Given the description of an element on the screen output the (x, y) to click on. 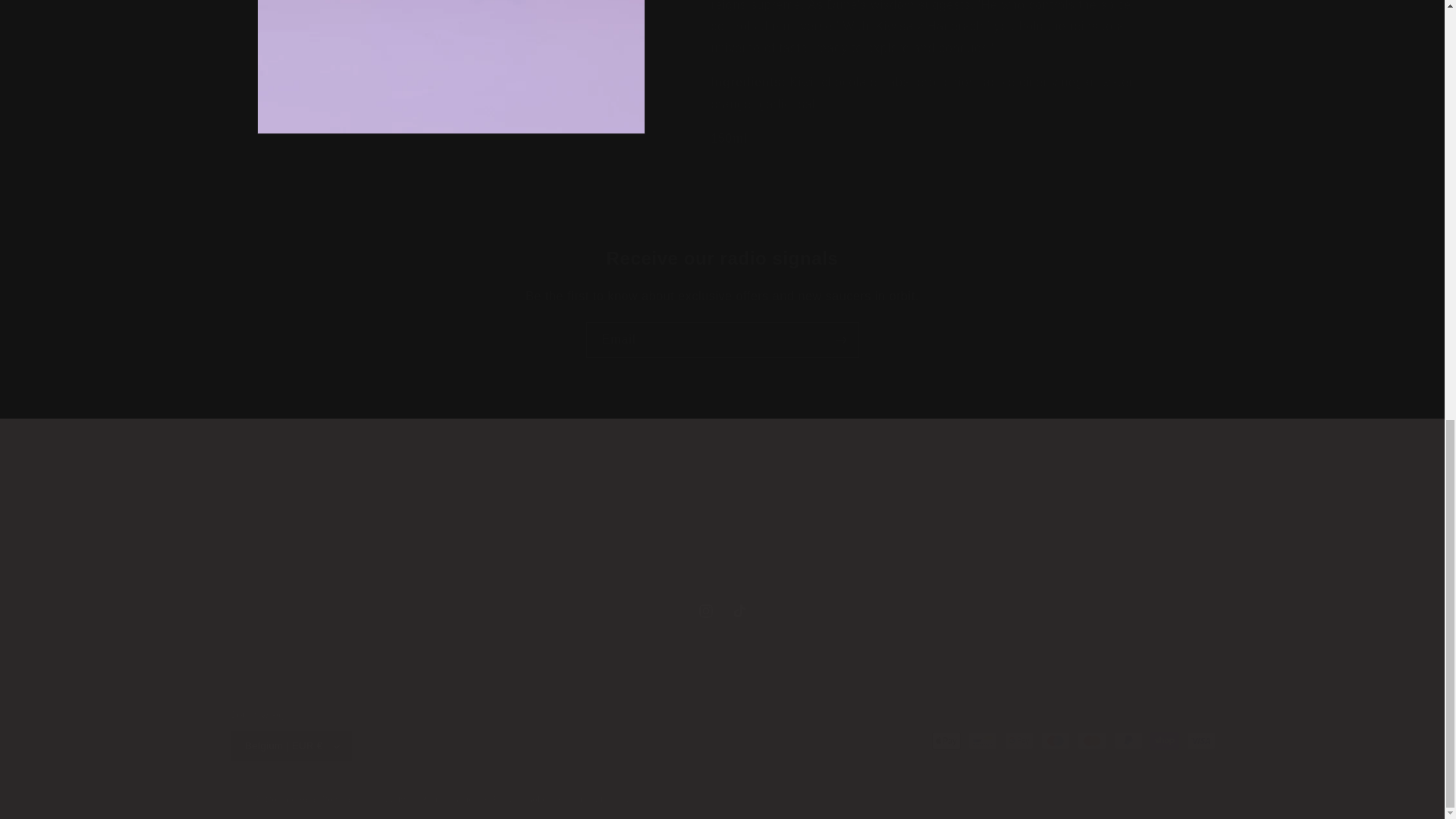
Home (1051, 531)
Email (574, 488)
Receive our radio signals (722, 339)
